Given the description of an element on the screen output the (x, y) to click on. 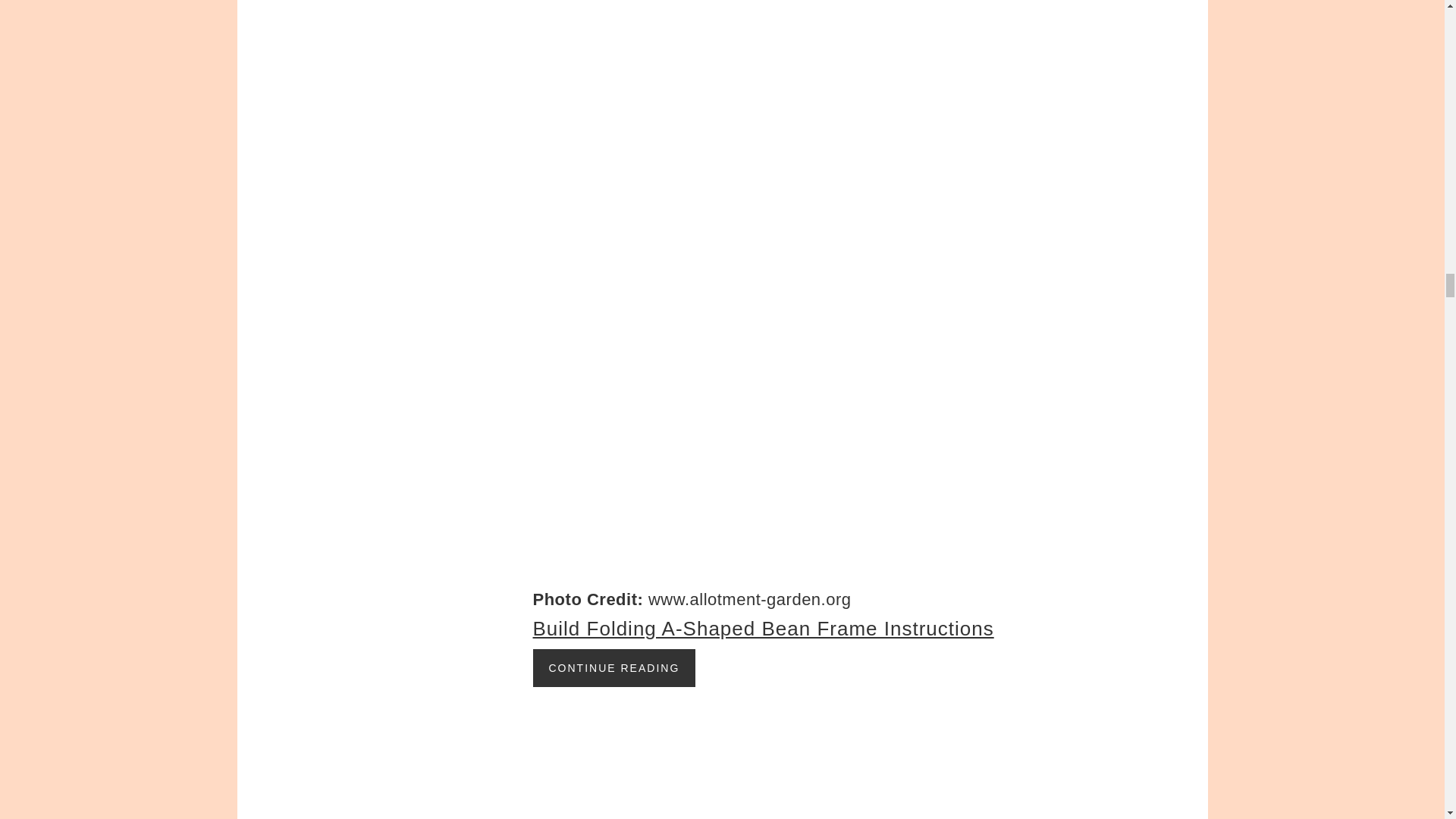
CONTINUE READING (613, 668)
Build Folding A-Shaped Bean Frame Instructions (762, 628)
